Given the description of an element on the screen output the (x, y) to click on. 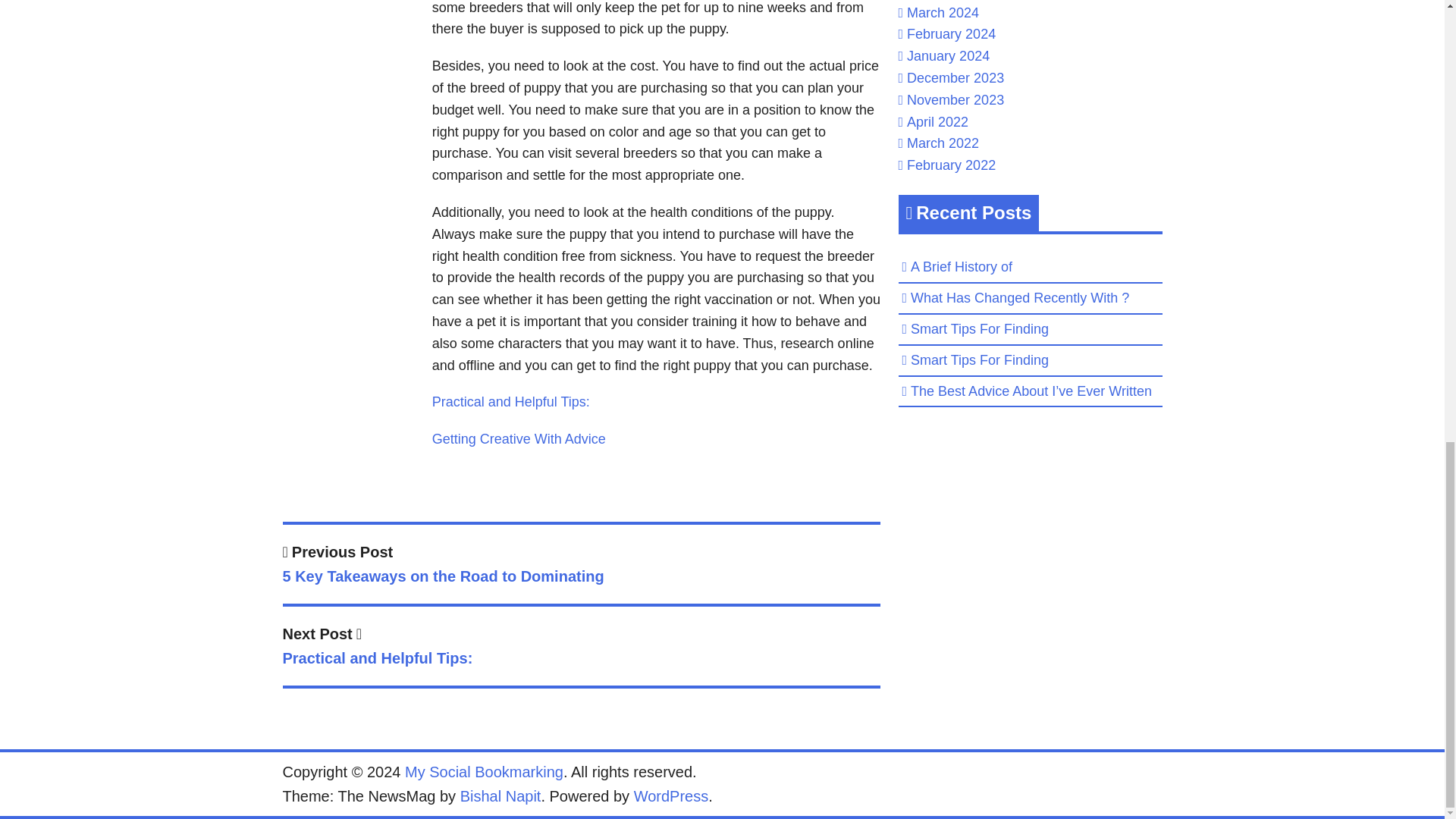
Getting Creative With Advice (518, 438)
My Social Bookmarking (483, 771)
Practical and Helpful Tips: (510, 401)
Bishal Napit (500, 795)
WordPress (671, 795)
